Given the description of an element on the screen output the (x, y) to click on. 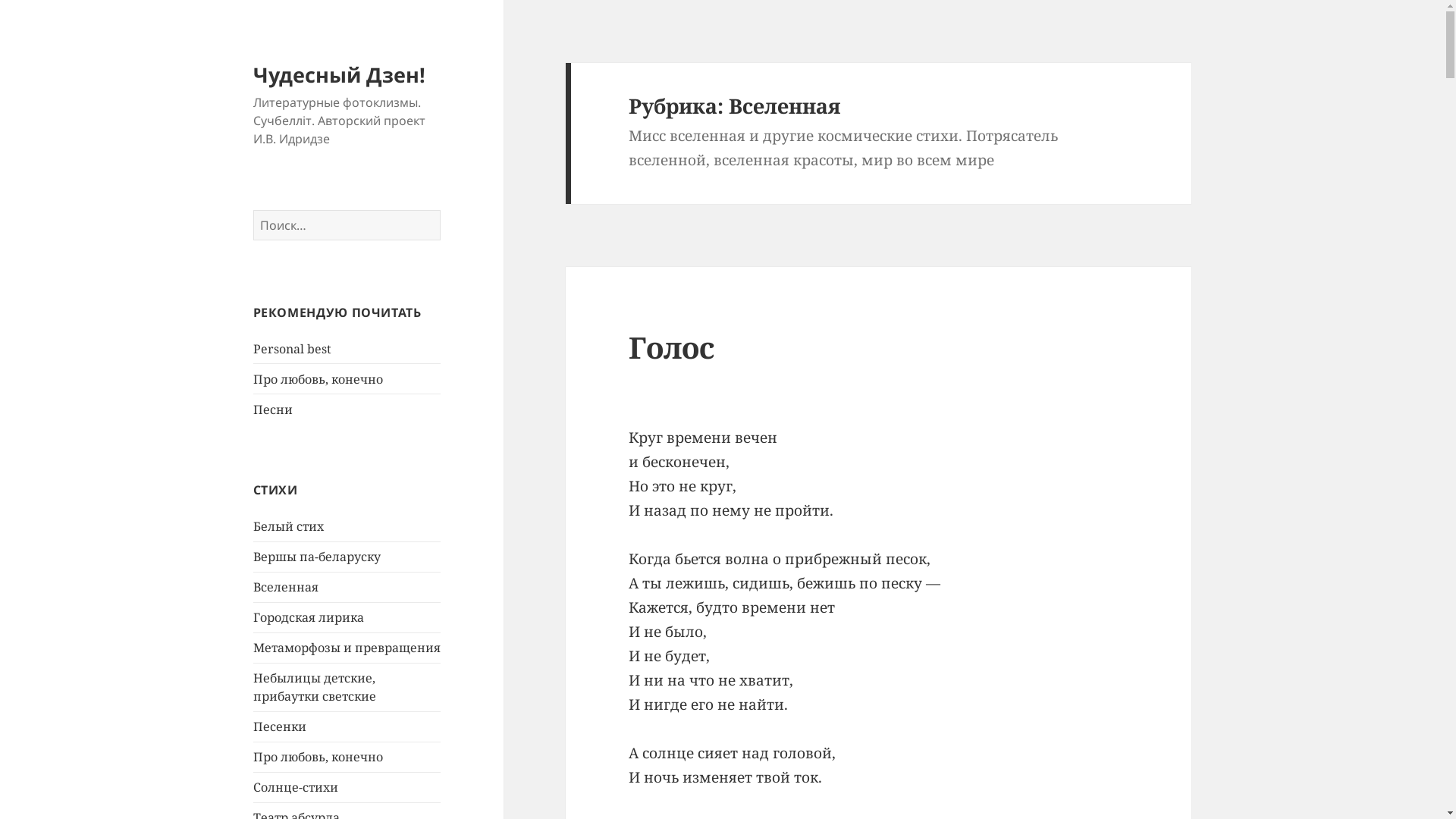
Personal best Element type: text (292, 348)
